Given the description of an element on the screen output the (x, y) to click on. 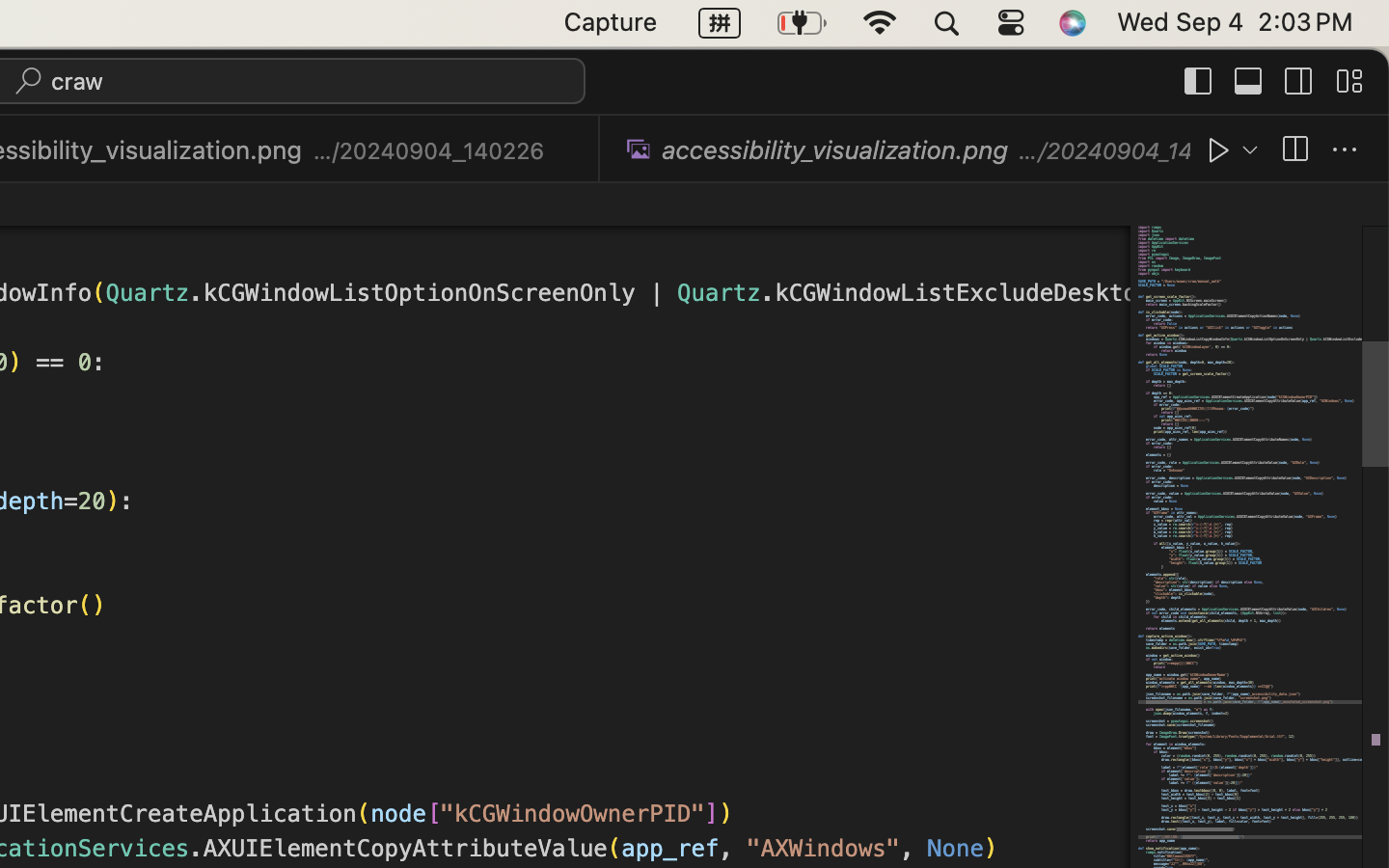
 Element type: AXButton (571, 150)
 Element type: AXStaticText (1344, 150)
 Element type: AXStaticText (638, 149)
craw Element type: AXStaticText (78, 80)
 Element type: AXButton (1219, 150)
